Given the description of an element on the screen output the (x, y) to click on. 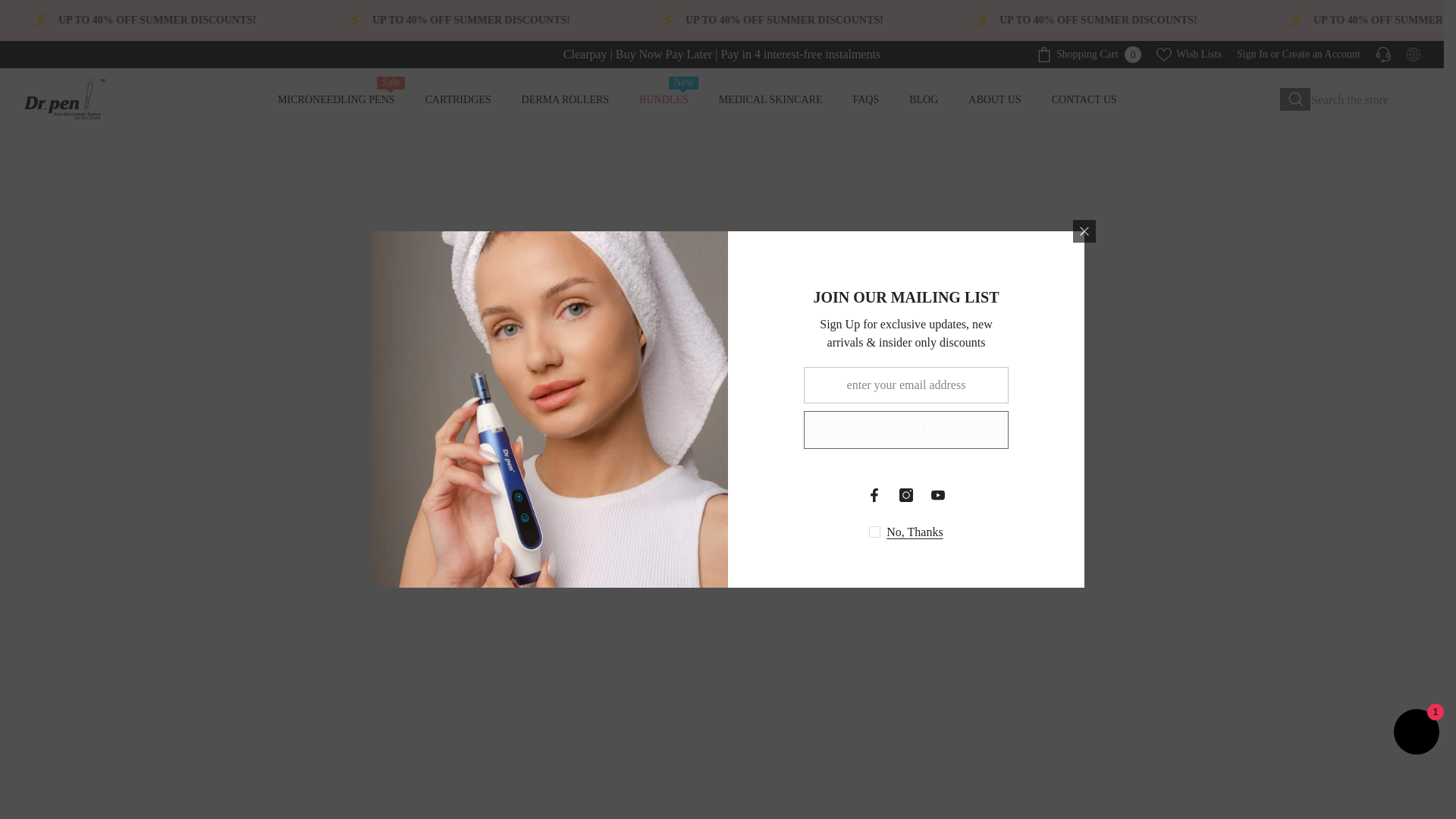
Create an Account (1088, 54)
Sign In (1320, 53)
CARTRIDGES (1252, 53)
Wish Lists (458, 106)
FACE MAPPING - HOW TO MICRONEEDLE (1188, 54)
